Given the description of an element on the screen output the (x, y) to click on. 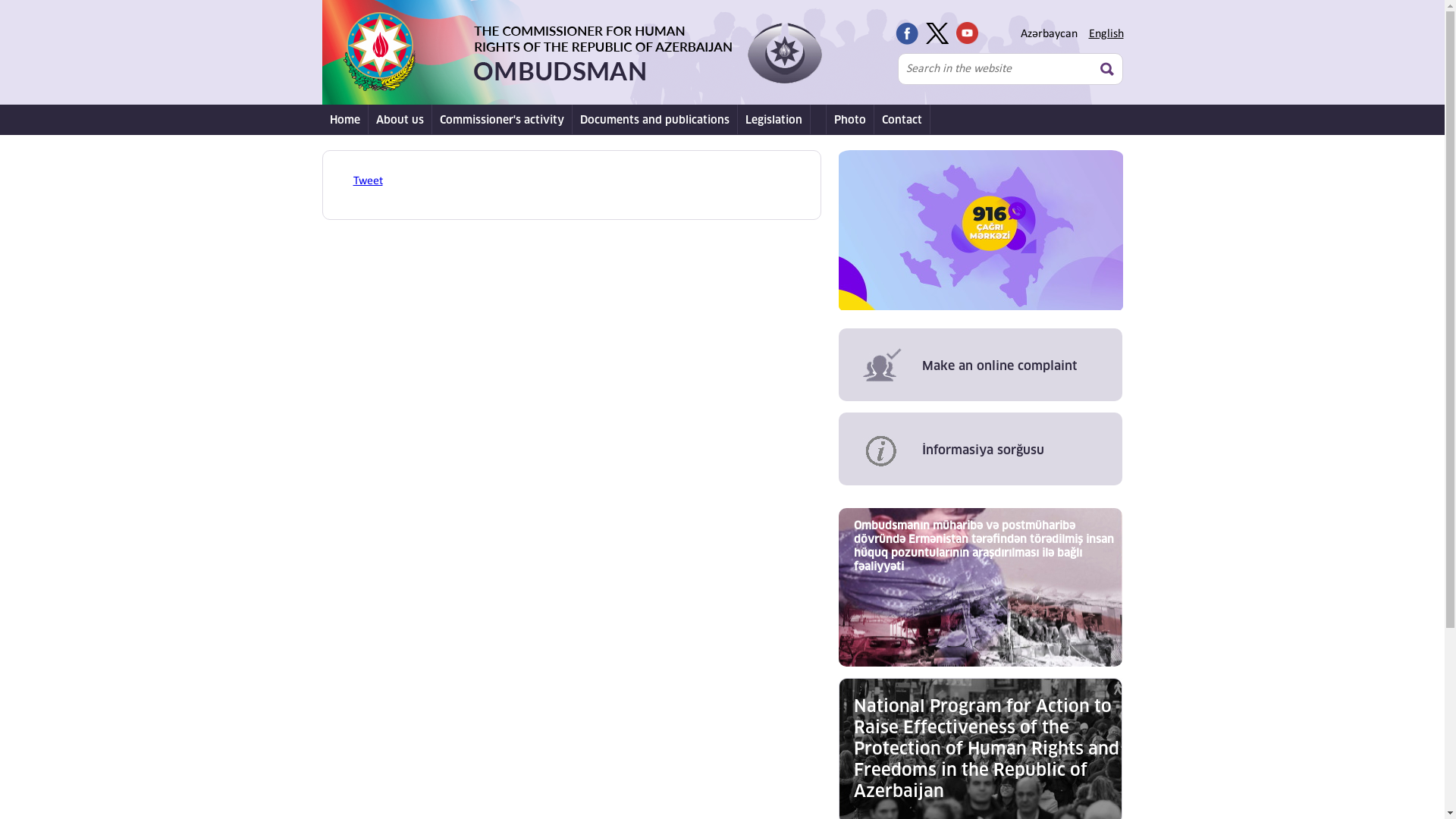
Legislation Element type: text (773, 119)
Contact Element type: text (901, 119)
Home Element type: text (344, 119)
Tweet Element type: text (367, 181)
Photo Element type: text (850, 119)
Commissioner's activity Element type: text (502, 119)
Documents and publications Element type: text (654, 119)
English Element type: text (1105, 34)
Make an online complaint  Element type: text (980, 364)
About us Element type: text (400, 119)
